Given the description of an element on the screen output the (x, y) to click on. 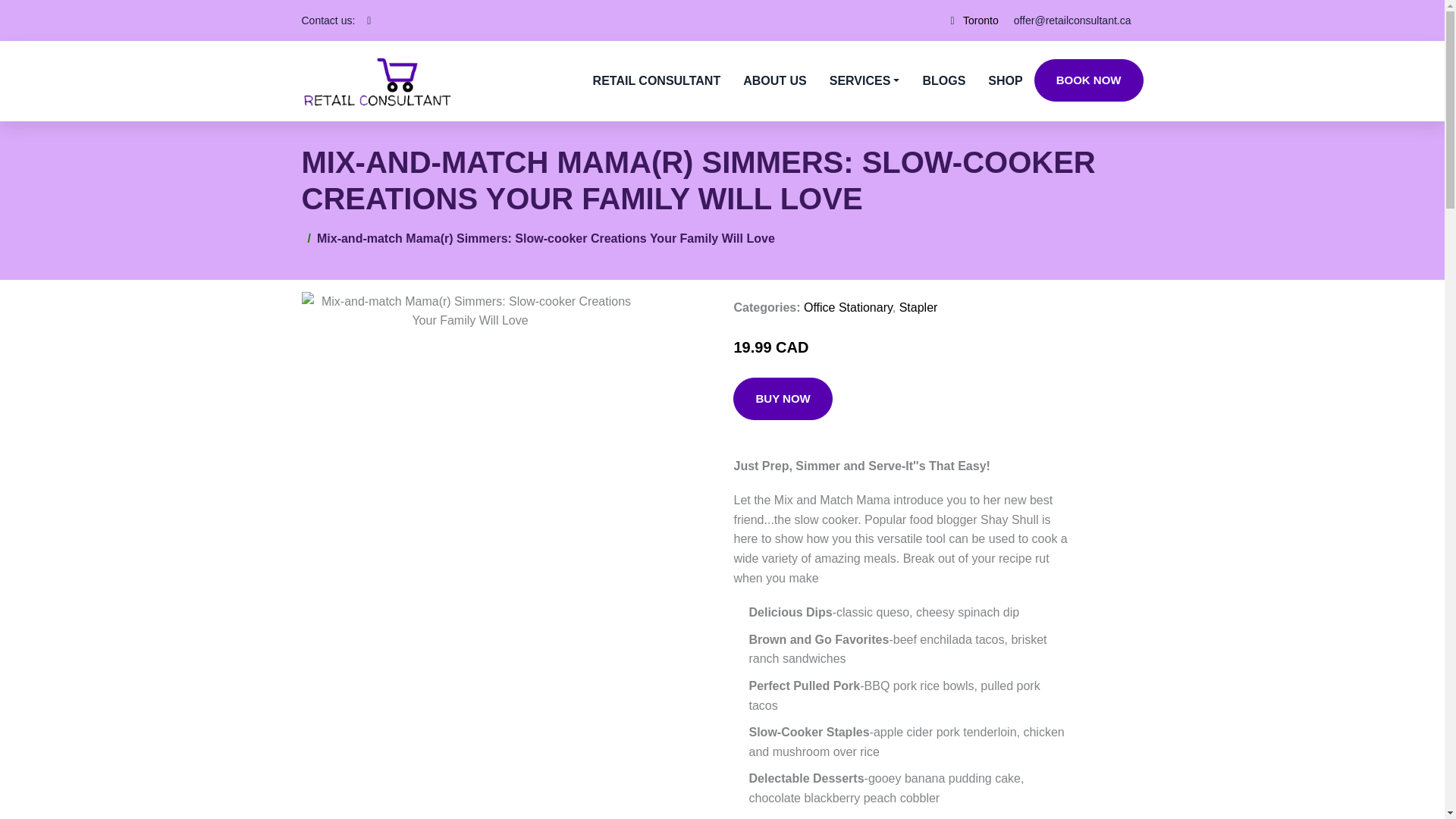
RETAIL CONSULTANT (656, 80)
ABOUT US (775, 80)
Toronto (980, 20)
Office Stationary (847, 307)
BOOK NOW (1087, 79)
Stapler (918, 307)
SERVICES (864, 80)
BUY NOW (782, 398)
